Given the description of an element on the screen output the (x, y) to click on. 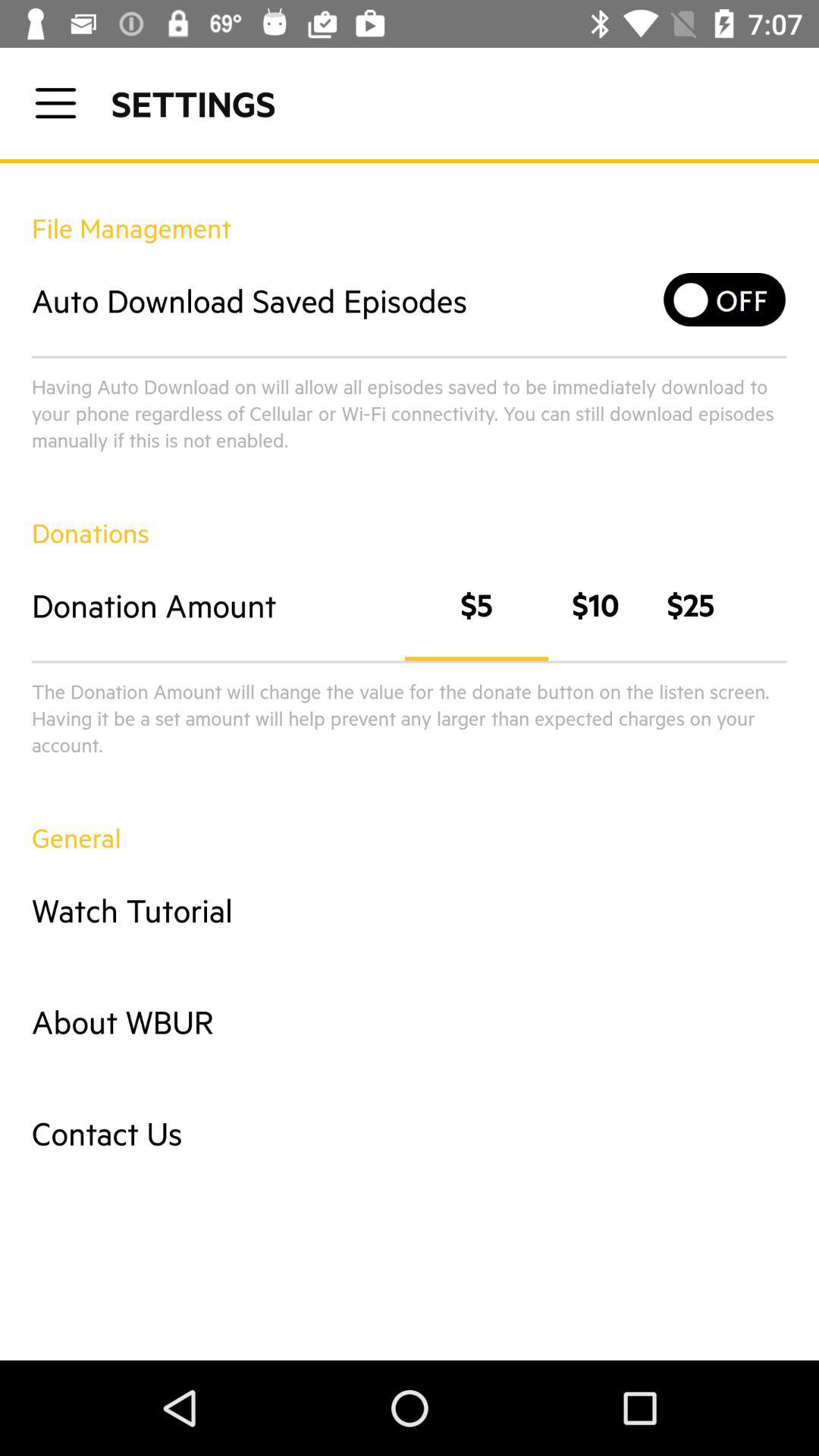
click for settings menu (55, 103)
